Given the description of an element on the screen output the (x, y) to click on. 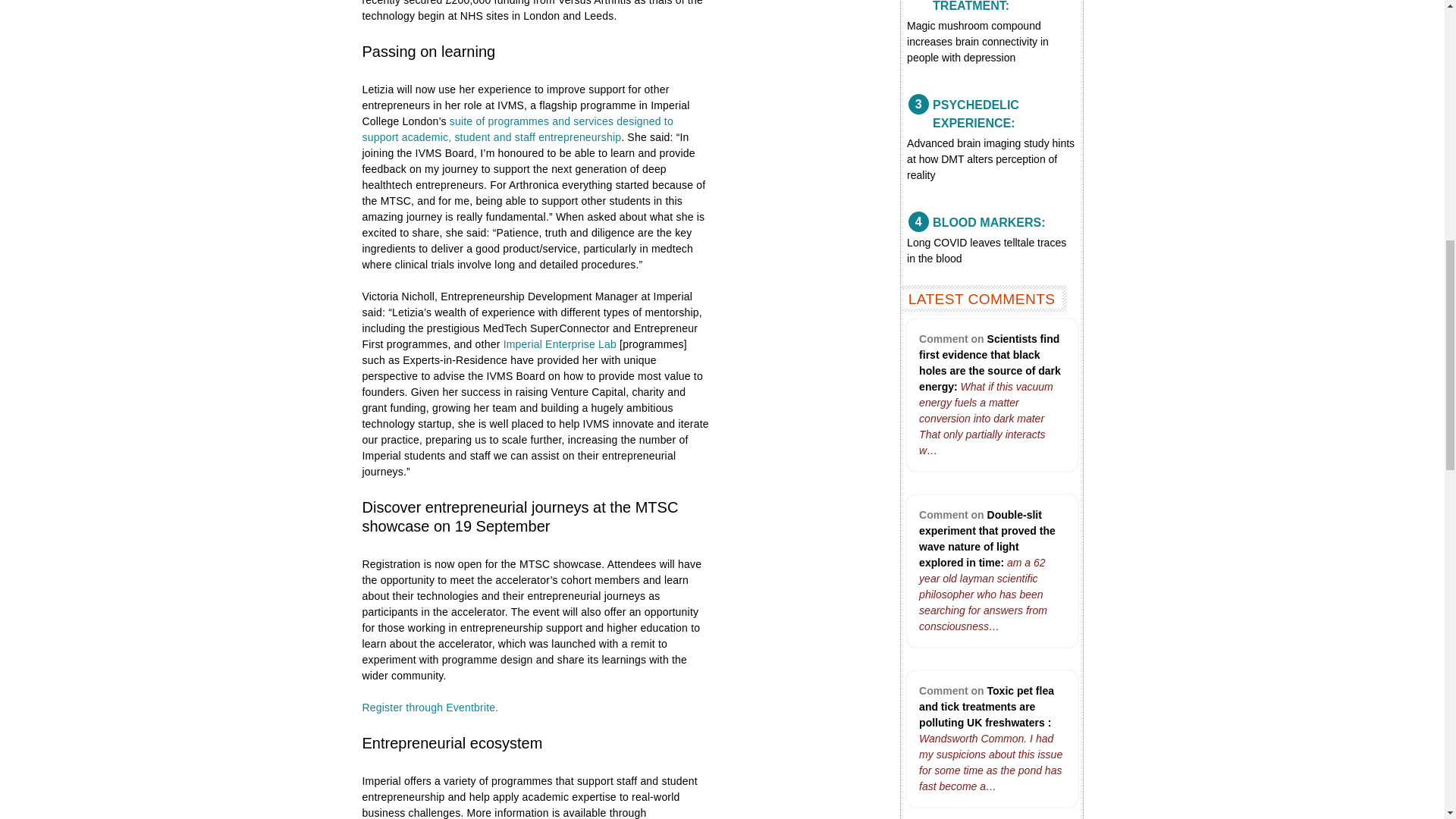
Imperial Enterprise Lab (559, 344)
Register through Eventbrite. (430, 707)
